Given the description of an element on the screen output the (x, y) to click on. 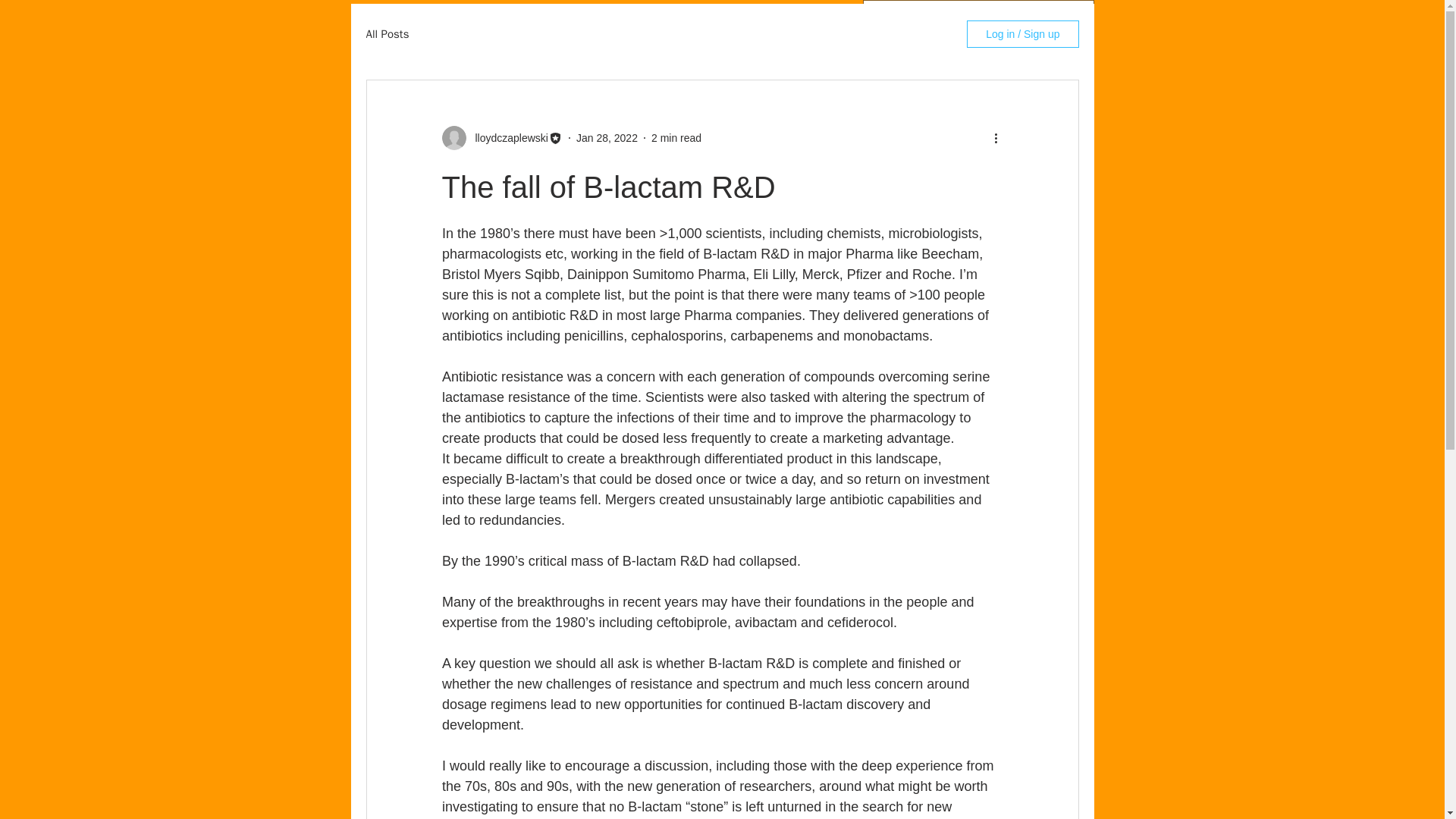
All Posts (387, 34)
Jan 28, 2022 (606, 137)
lloydczaplewski (506, 138)
2 min read (675, 137)
